Given the description of an element on the screen output the (x, y) to click on. 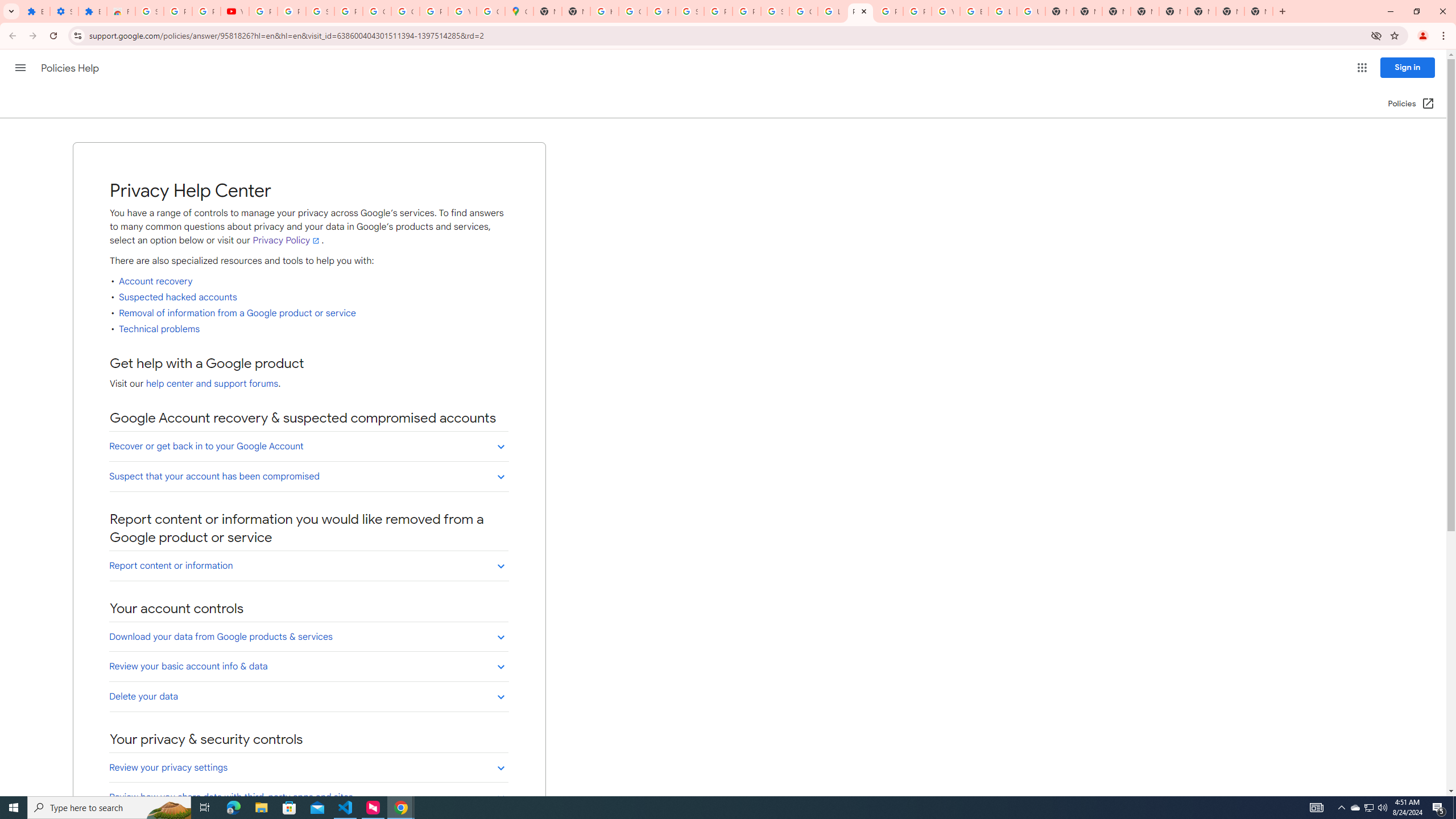
Privacy Help Center - Policies Help (888, 11)
Account recovery (155, 281)
Policies (Open in a new window) (1411, 103)
Sign in - Google Accounts (148, 11)
Sign in - Google Accounts (320, 11)
Extensions (35, 11)
